Given the description of an element on the screen output the (x, y) to click on. 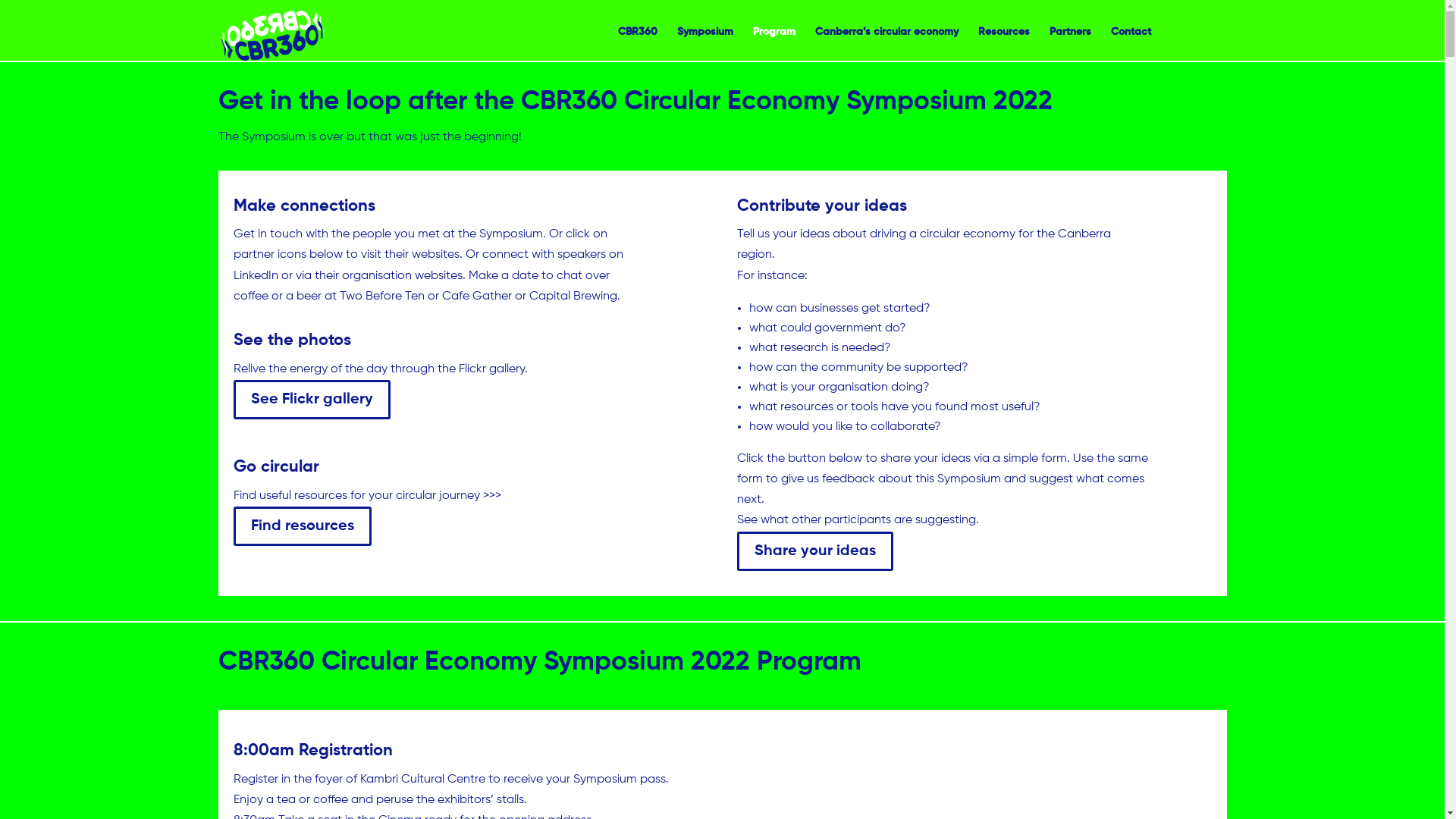
Contact Element type: text (1130, 41)
Program Element type: text (773, 41)
Find resources Element type: text (302, 526)
Partners Element type: text (1070, 41)
Resources Element type: text (1003, 41)
Symposium Element type: text (704, 41)
CBR360 Element type: text (636, 41)
other participants are suggesting Element type: text (883, 520)
Share your ideas Element type: text (815, 551)
See Flickr gallery Element type: text (311, 399)
